Given the description of an element on the screen output the (x, y) to click on. 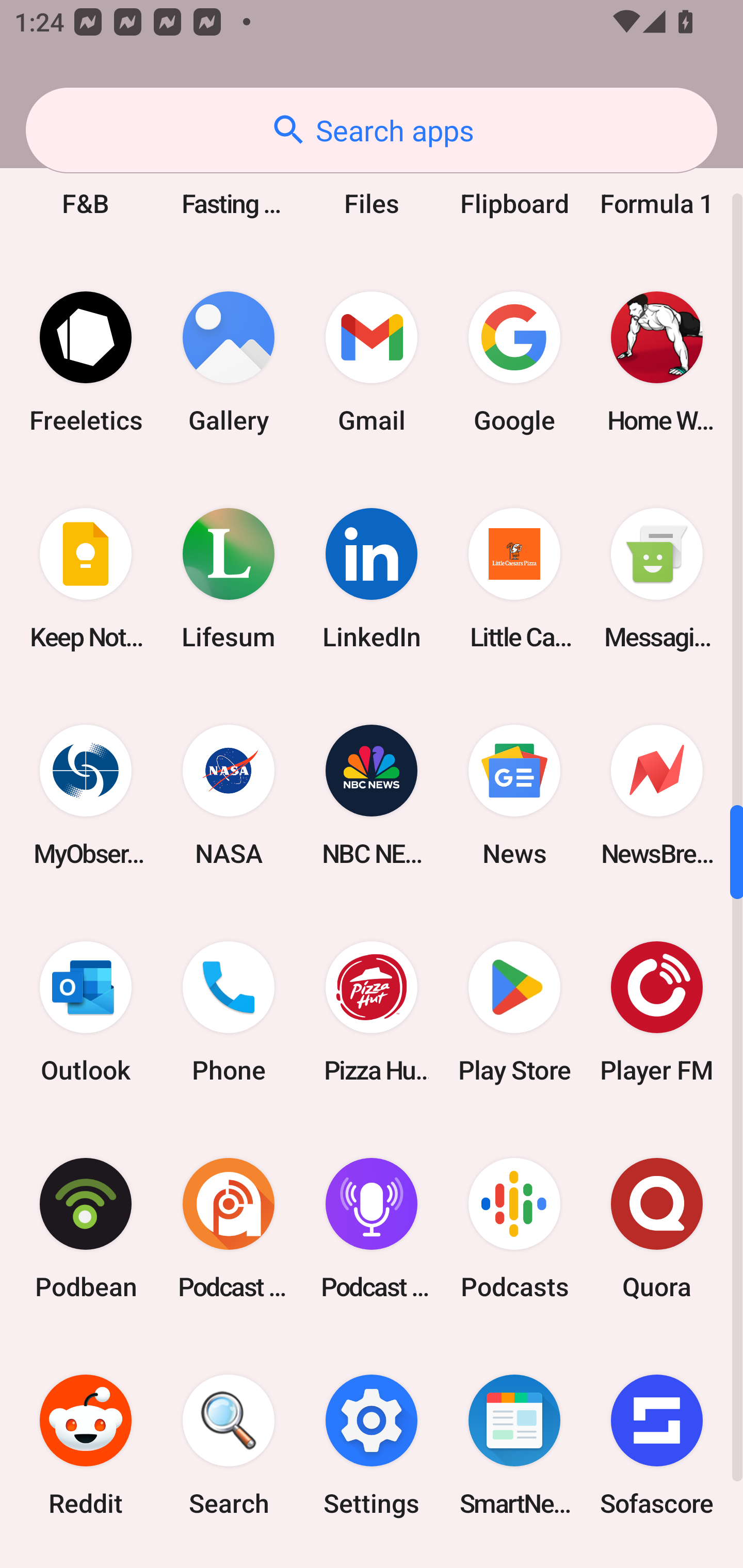
  Search apps (371, 130)
Freeletics (85, 362)
Gallery (228, 362)
Gmail (371, 362)
Google (514, 362)
Home Workout (656, 362)
Keep Notes (85, 578)
Lifesum (228, 578)
LinkedIn (371, 578)
Little Caesars Pizza (514, 578)
Messaging (656, 578)
MyObservatory (85, 794)
NASA (228, 794)
NBC NEWS (371, 794)
News (514, 794)
NewsBreak (656, 794)
Outlook (85, 1011)
Phone (228, 1011)
Pizza Hut HK & Macau (371, 1011)
Play Store (514, 1011)
Player FM (656, 1011)
Podbean (85, 1228)
Podcast Addict (228, 1228)
Podcast Player (371, 1228)
Podcasts (514, 1228)
Quora (656, 1228)
Reddit (85, 1445)
Search (228, 1445)
Settings (371, 1445)
SmartNews (514, 1445)
Sofascore (656, 1445)
